Given the description of an element on the screen output the (x, y) to click on. 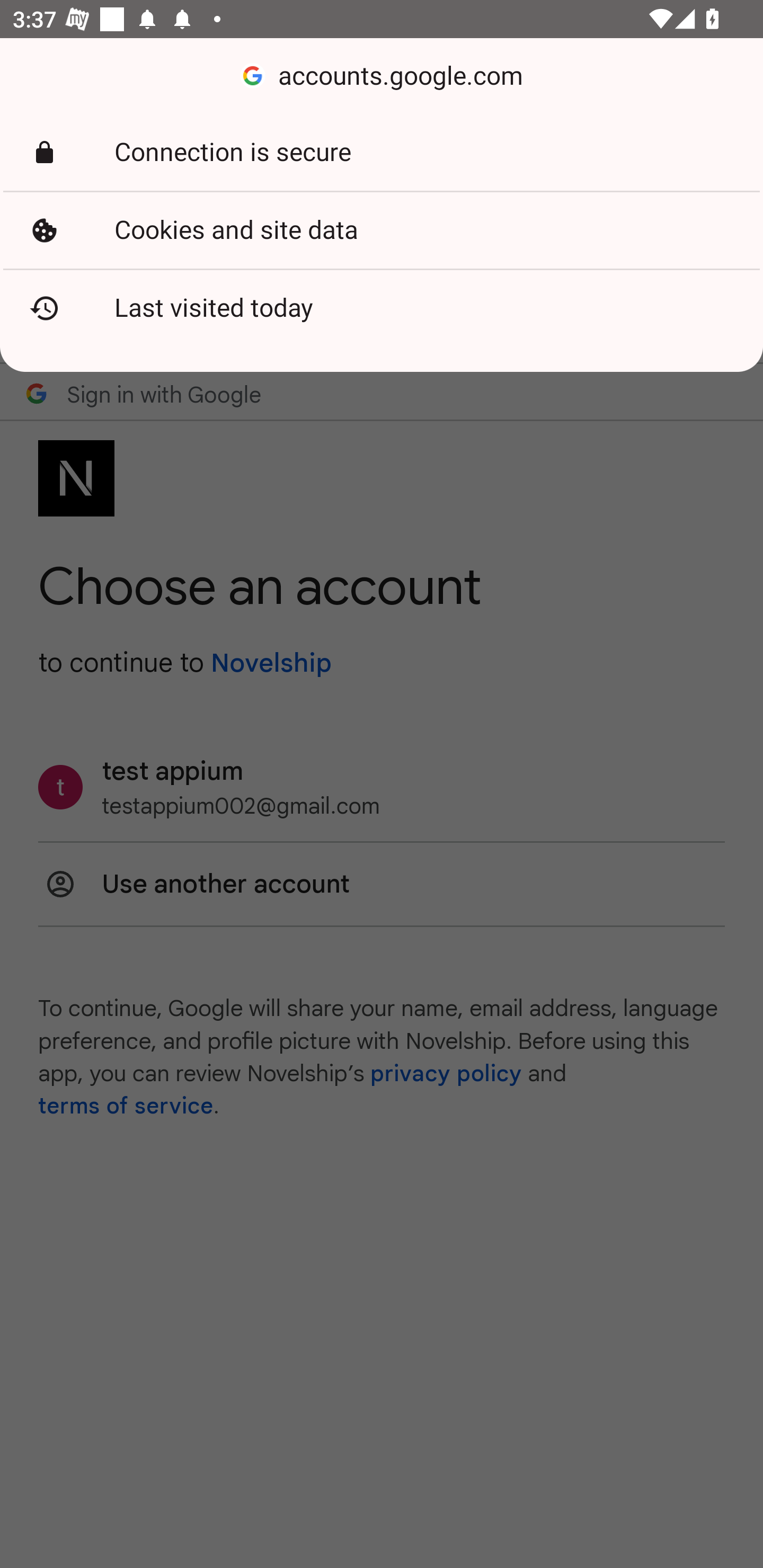
accounts.google.com (381, 75)
Connection is secure (381, 152)
Cookies and site data (381, 230)
Last visited today (381, 307)
